Given the description of an element on the screen output the (x, y) to click on. 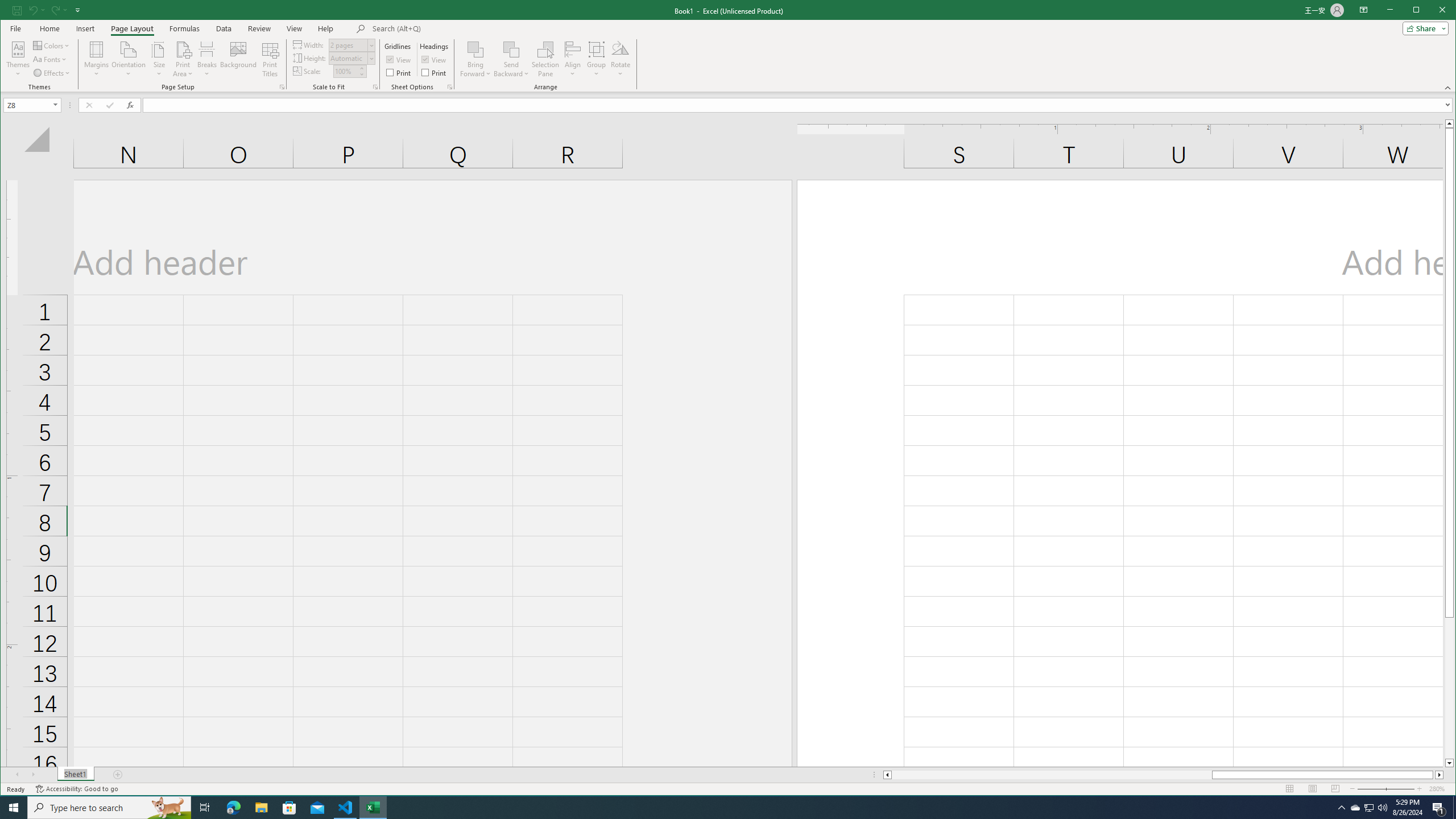
Bring Forward (475, 48)
Print (434, 72)
Excel - 1 running window (373, 807)
Task View (204, 807)
Print Area (183, 59)
Size (159, 59)
Selection Pane... (544, 59)
Rotate (619, 59)
